Given the description of an element on the screen output the (x, y) to click on. 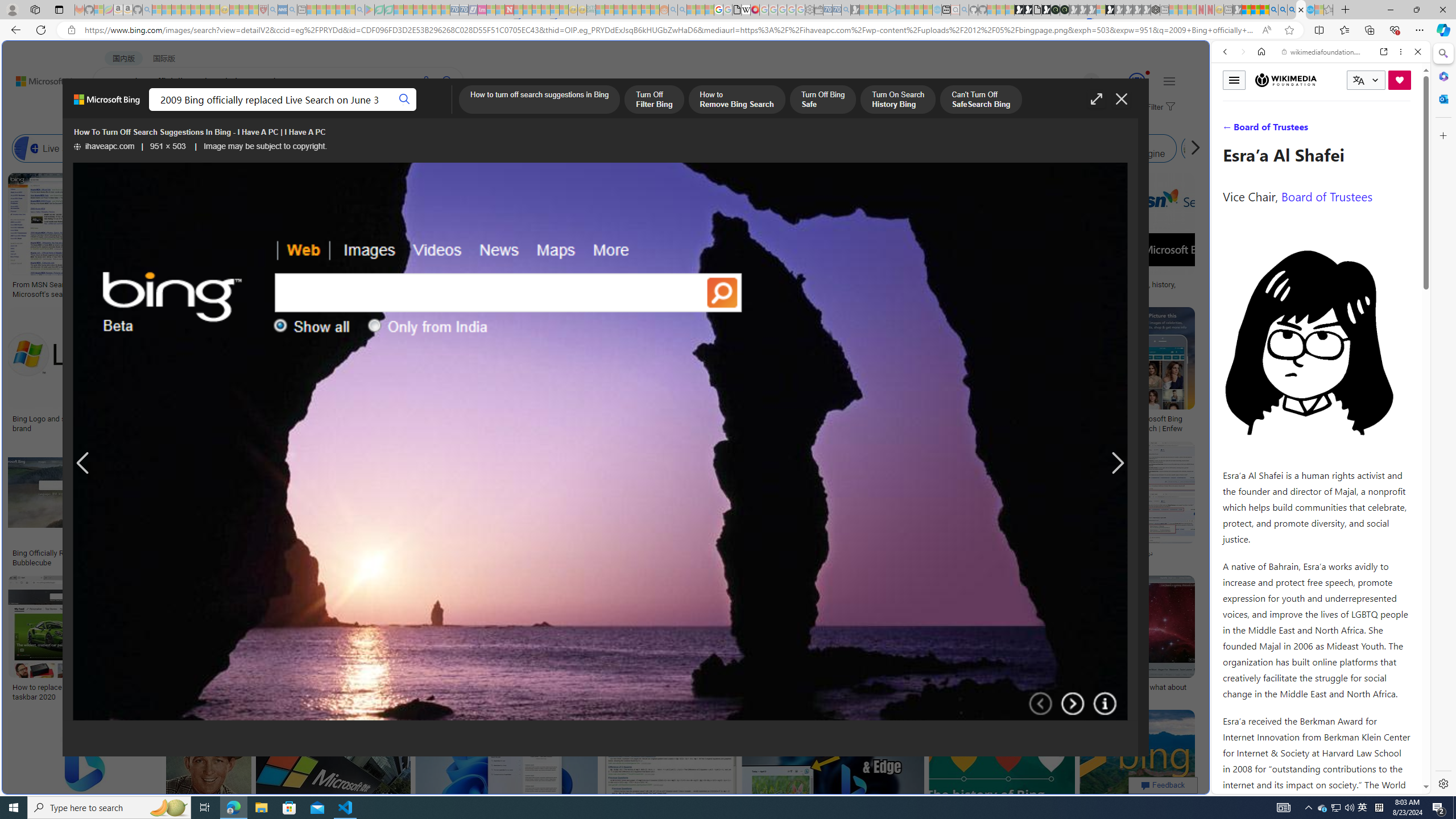
How to replace Bing in Windows 10 search on the taskbar 2020 (93, 691)
Bing - SEOLend (219, 552)
Filter (1158, 107)
